Given the description of an element on the screen output the (x, y) to click on. 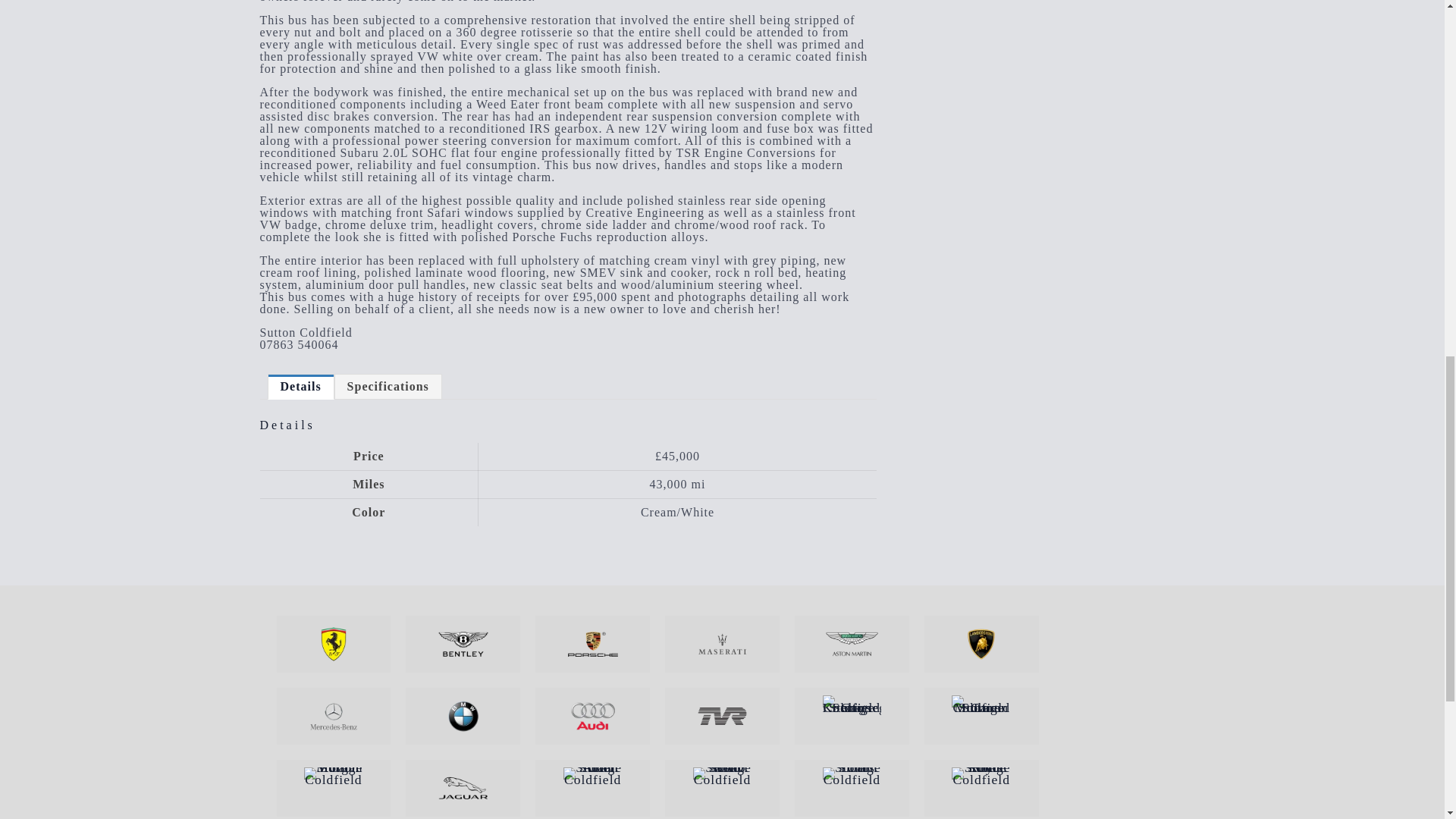
Specifications (388, 386)
Details (301, 386)
